Given the description of an element on the screen output the (x, y) to click on. 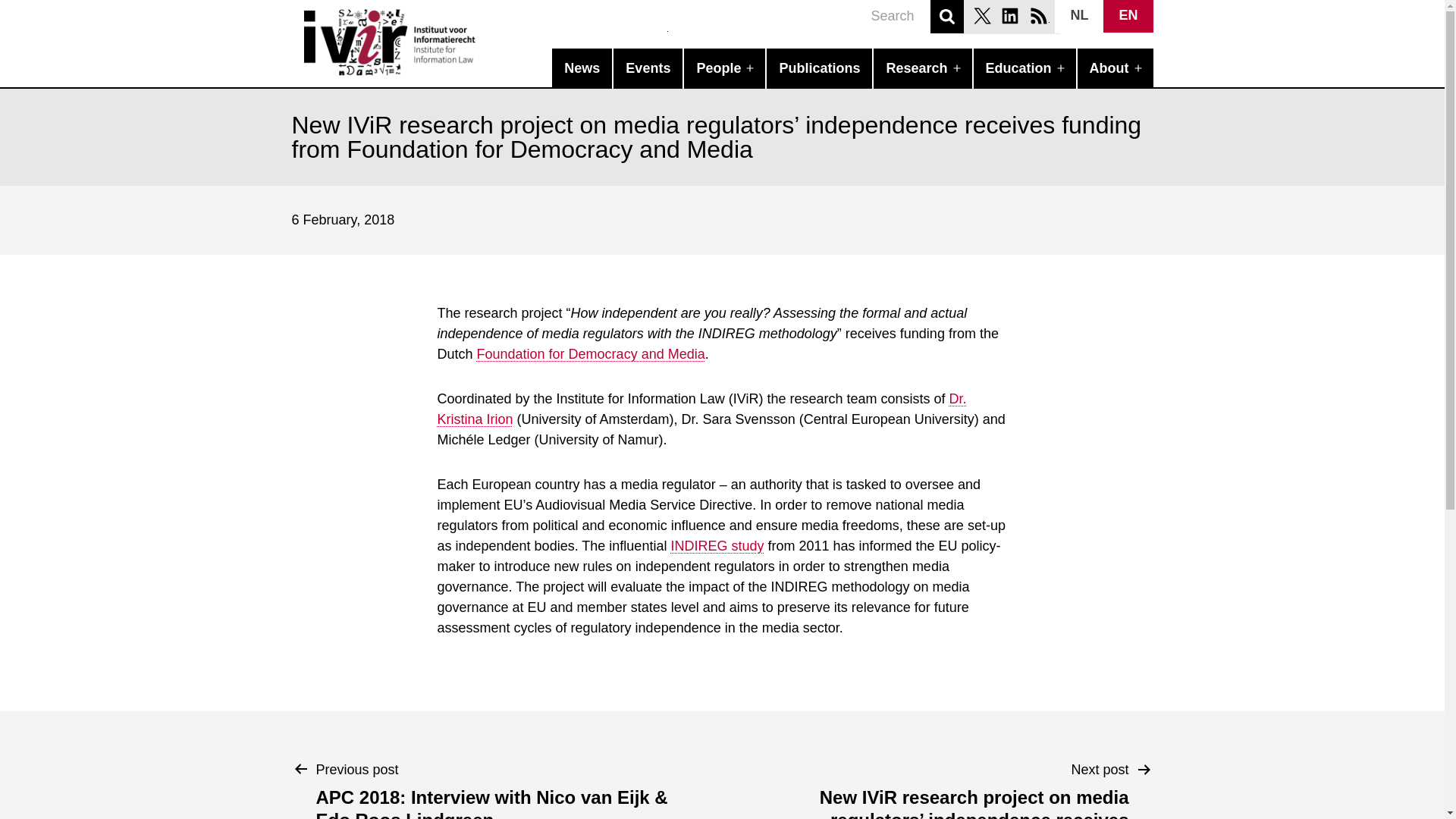
Open menu (964, 68)
Research (917, 68)
Search (946, 16)
EN (1128, 16)
IVIR (484, 42)
Education (1020, 68)
News RSS (1038, 15)
Open menu (1068, 68)
Publications (819, 68)
LinkedIn (1009, 15)
Open menu (757, 68)
Events (647, 68)
INDIREG study (715, 545)
Twitter feed (981, 15)
Open menu (1145, 68)
